Given the description of an element on the screen output the (x, y) to click on. 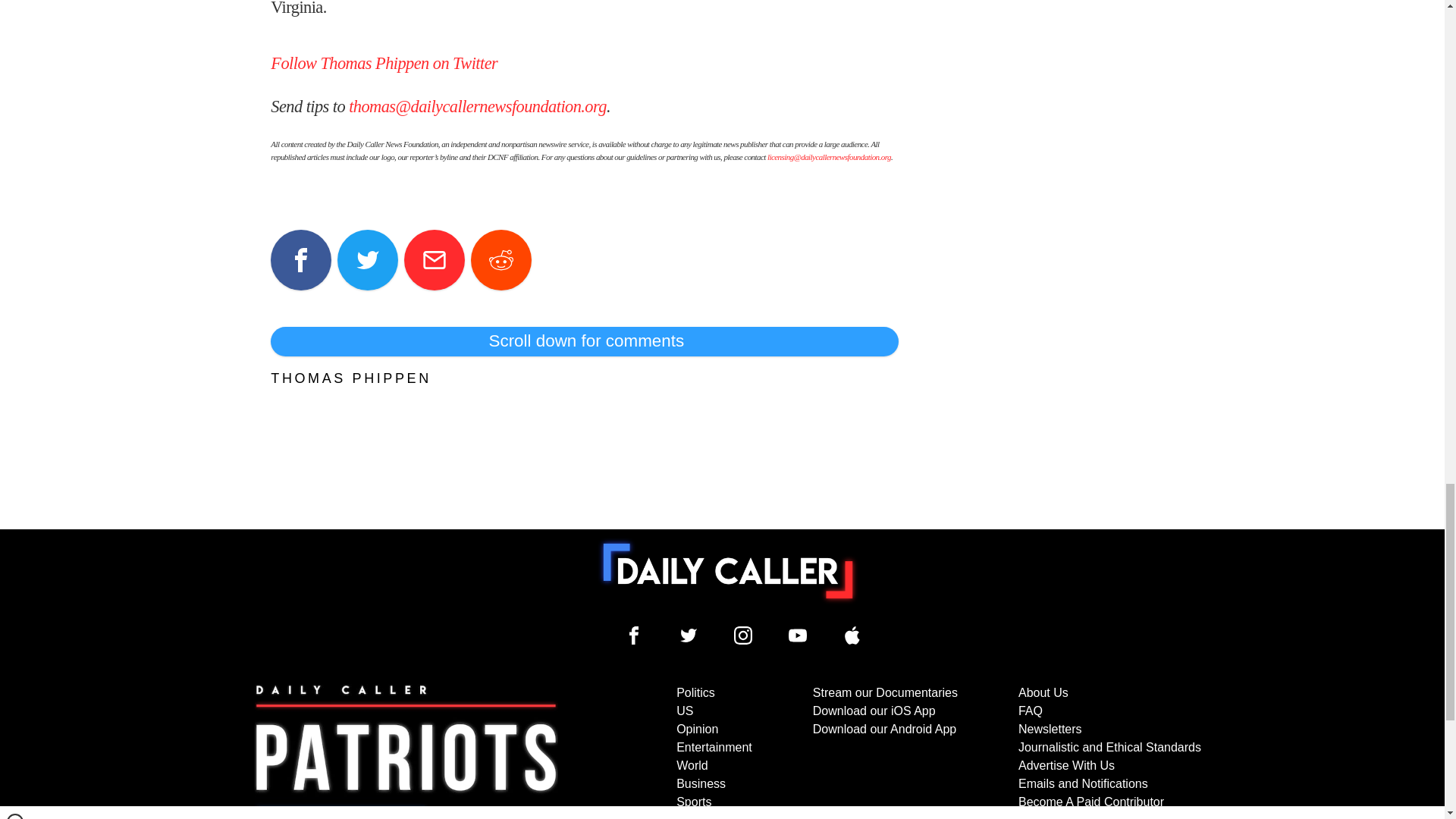
Subscribe to The Daily Caller (405, 751)
Daily Caller YouTube (852, 635)
To home page (727, 570)
Scroll down for comments (584, 340)
Daily Caller Instagram (742, 635)
US (685, 710)
Opinion (697, 728)
Politics (695, 692)
Scroll down for comments (584, 340)
Daily Caller Twitter (688, 635)
Daily Caller YouTube (797, 635)
Daily Caller Facebook (633, 635)
Follow Thomas Phippen on Twitter (383, 63)
